Given the description of an element on the screen output the (x, y) to click on. 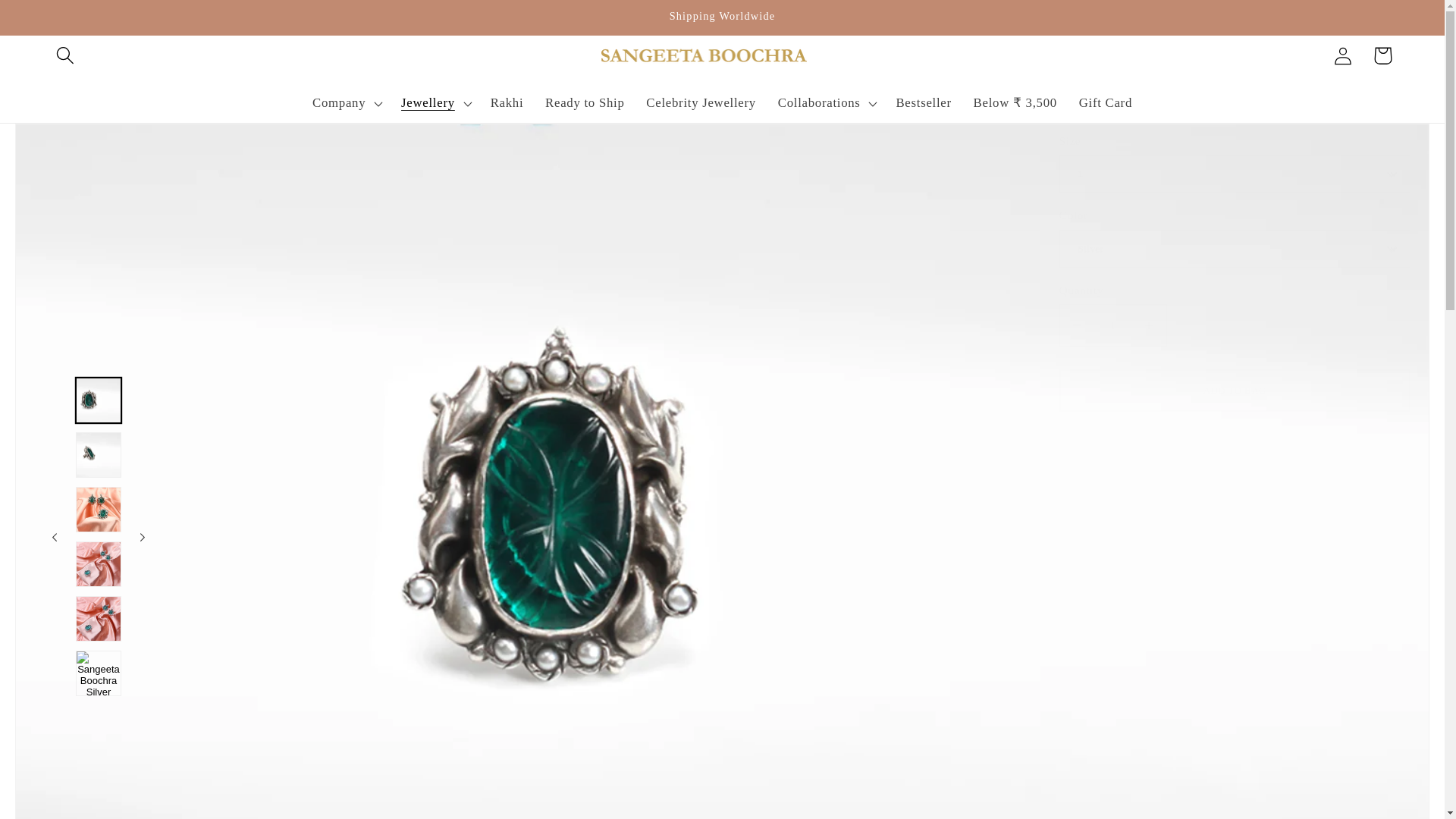
SKIP TO CONTENT (55, 20)
1 (1112, 324)
